Given the description of an element on the screen output the (x, y) to click on. 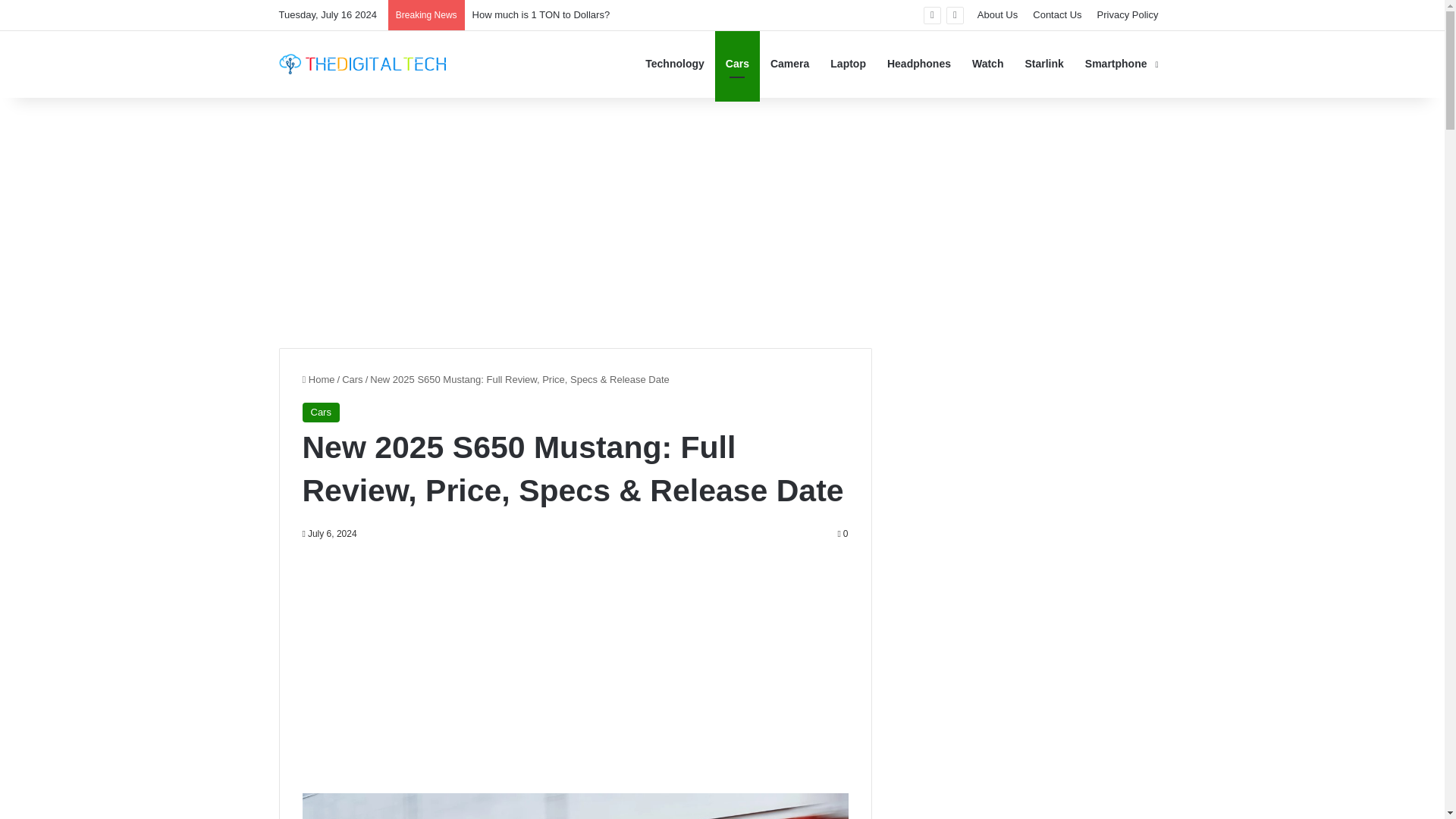
Headphones (918, 63)
Smartphone (1120, 63)
Privacy Policy (1127, 15)
How much is 1 TON to Dollars? (540, 14)
About Us (997, 15)
Cars (320, 412)
The Digital Tech (362, 63)
Cars (352, 378)
Advertisement (574, 663)
Contact Us (1057, 15)
Technology (674, 63)
Home (317, 378)
